Given the description of an element on the screen output the (x, y) to click on. 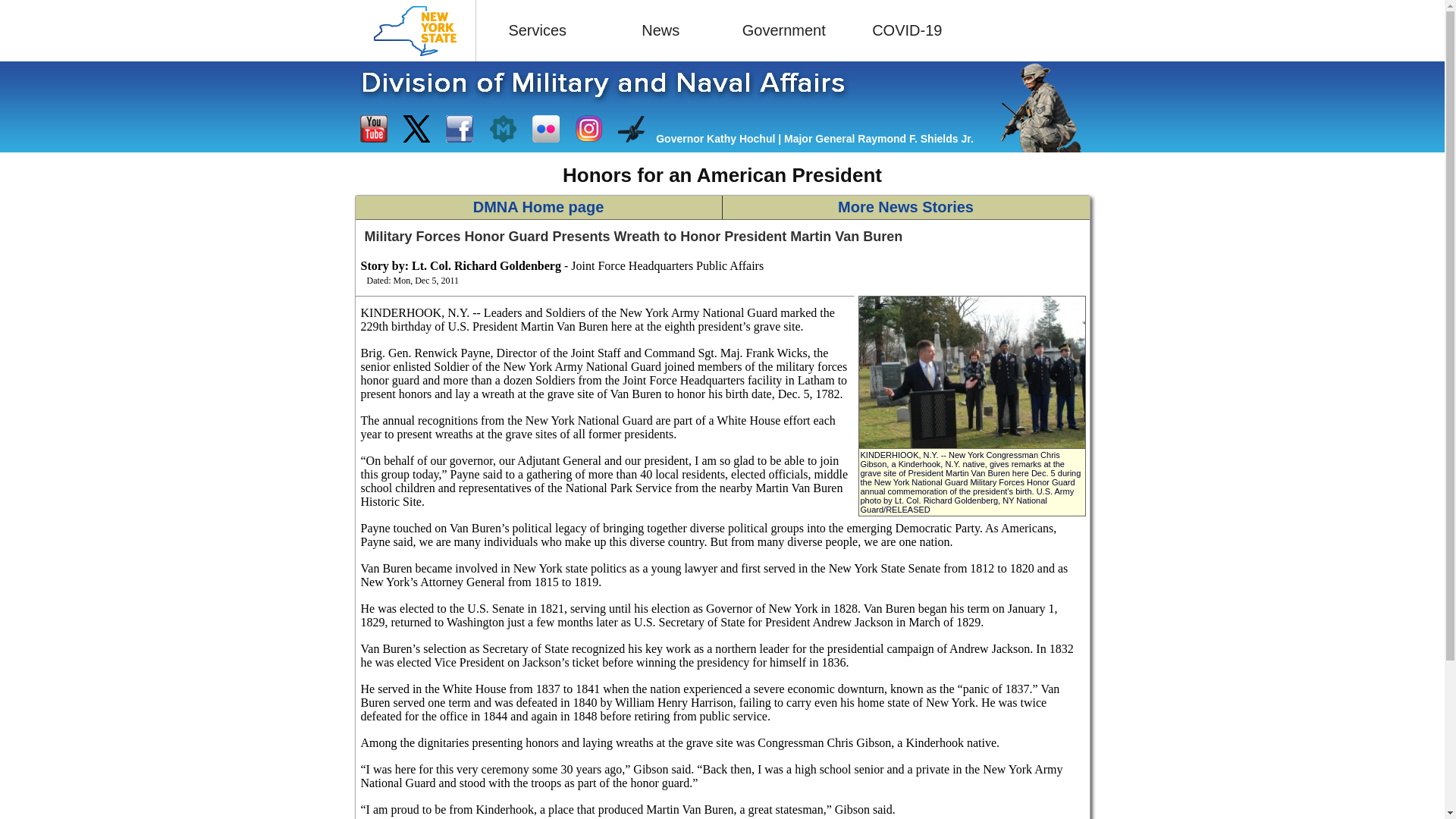
COVID-19 (907, 30)
Search our DVIDS Content (631, 128)
Services (537, 30)
Government (783, 30)
DMNA Home page (538, 207)
View our photos on Instagram (588, 128)
Visit us on Youtube (373, 128)
View our Flickr Photostream (545, 128)
NYS DMNA Press Releases on Readmedia (502, 128)
News (660, 30)
Follow us on X (416, 128)
Visit us on Facebook (459, 128)
More News Stories (905, 207)
New York State Home (414, 30)
